Given the description of an element on the screen output the (x, y) to click on. 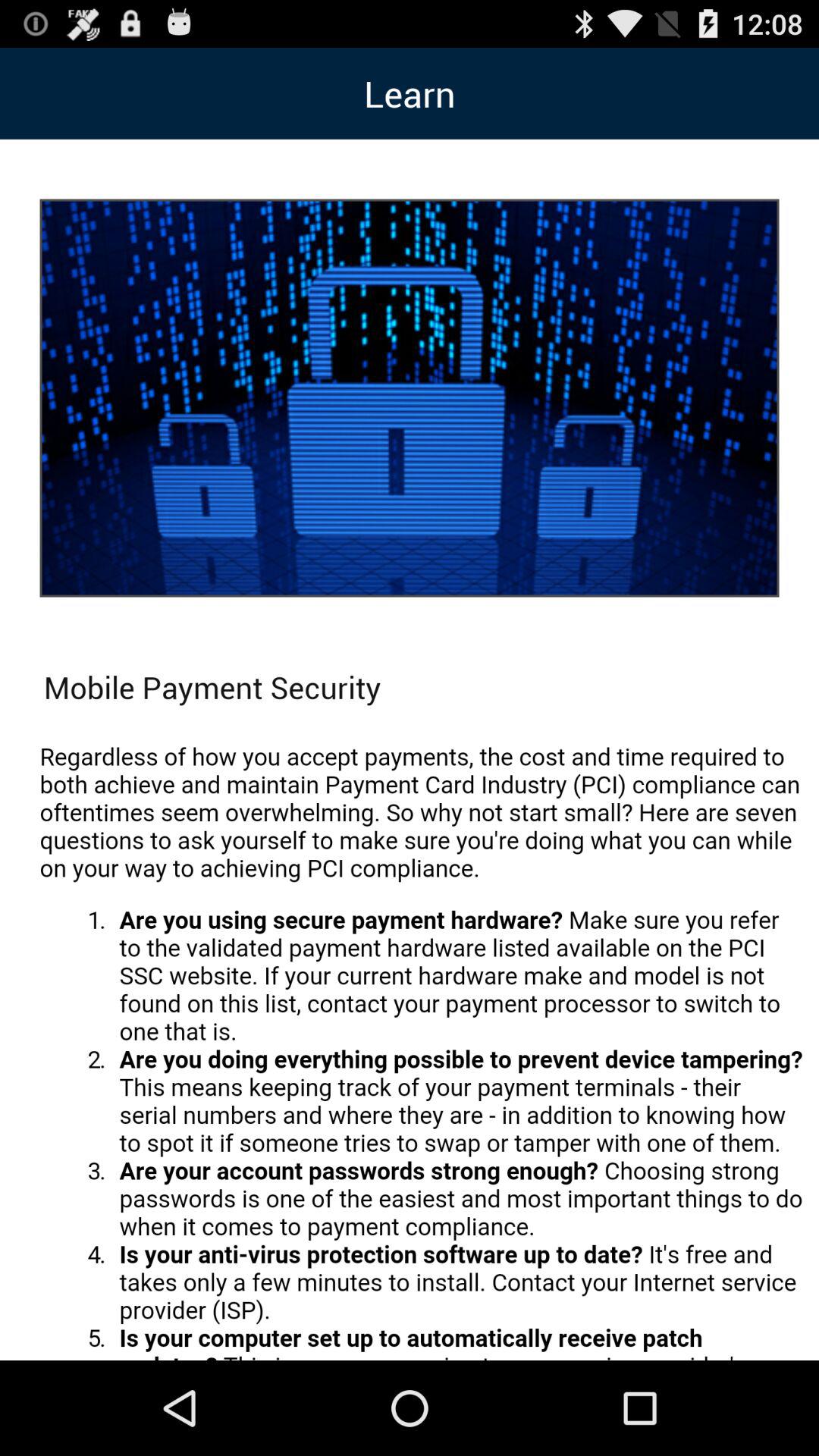
advadicement page (421, 1043)
